Given the description of an element on the screen output the (x, y) to click on. 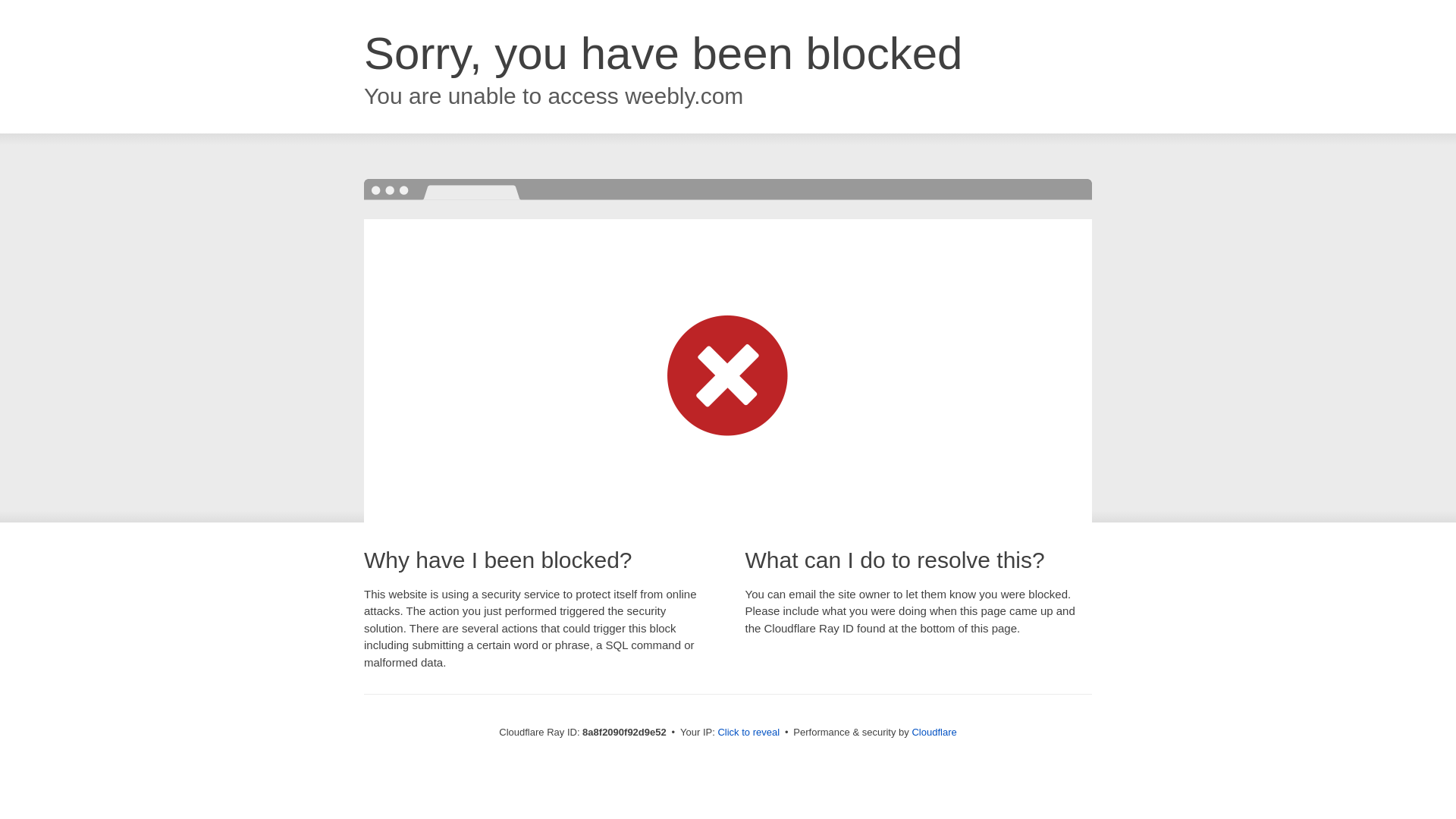
Click to reveal (747, 732)
Cloudflare (933, 731)
